Given the description of an element on the screen output the (x, y) to click on. 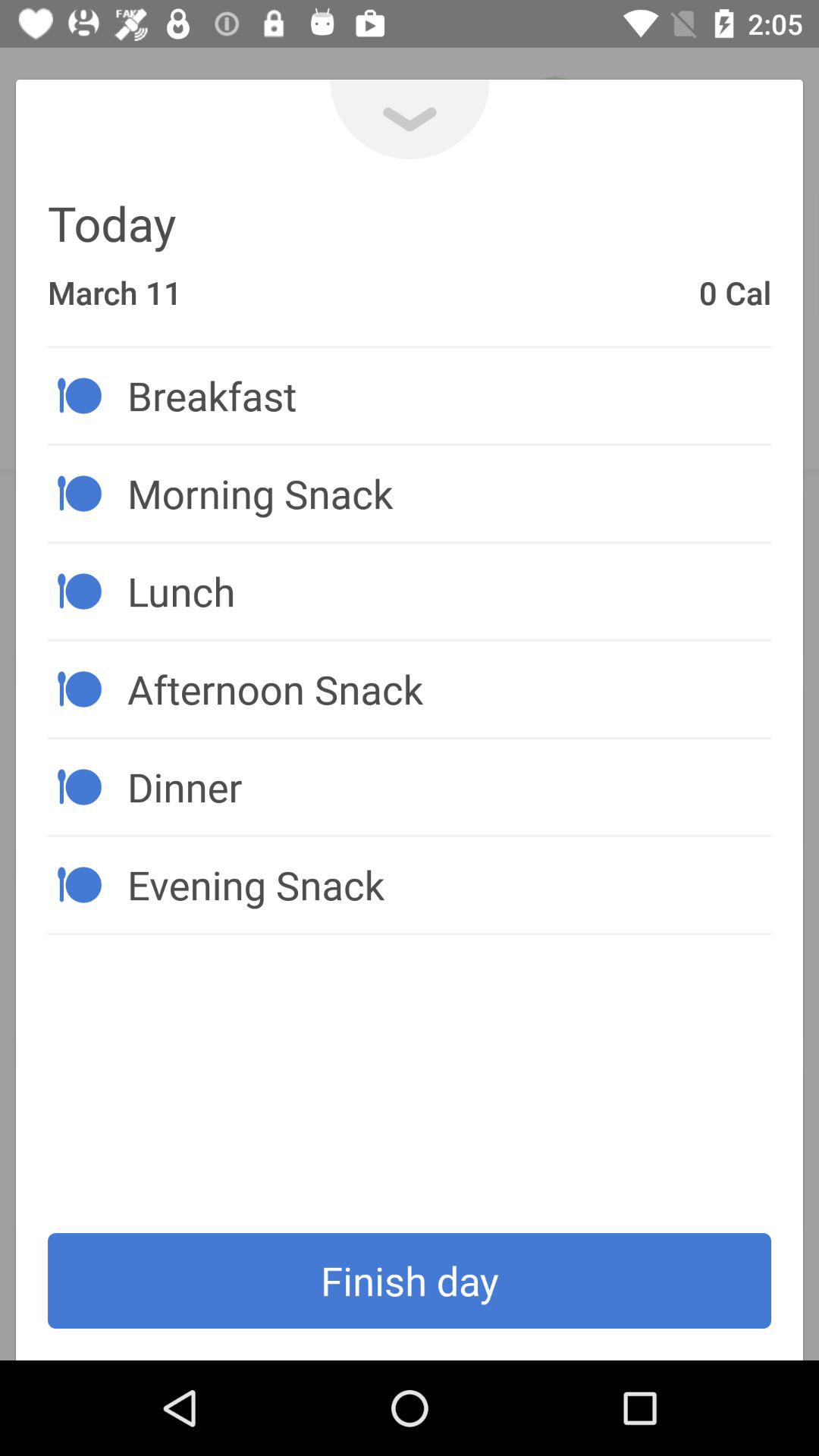
scroll until evening snack item (449, 884)
